Given the description of an element on the screen output the (x, y) to click on. 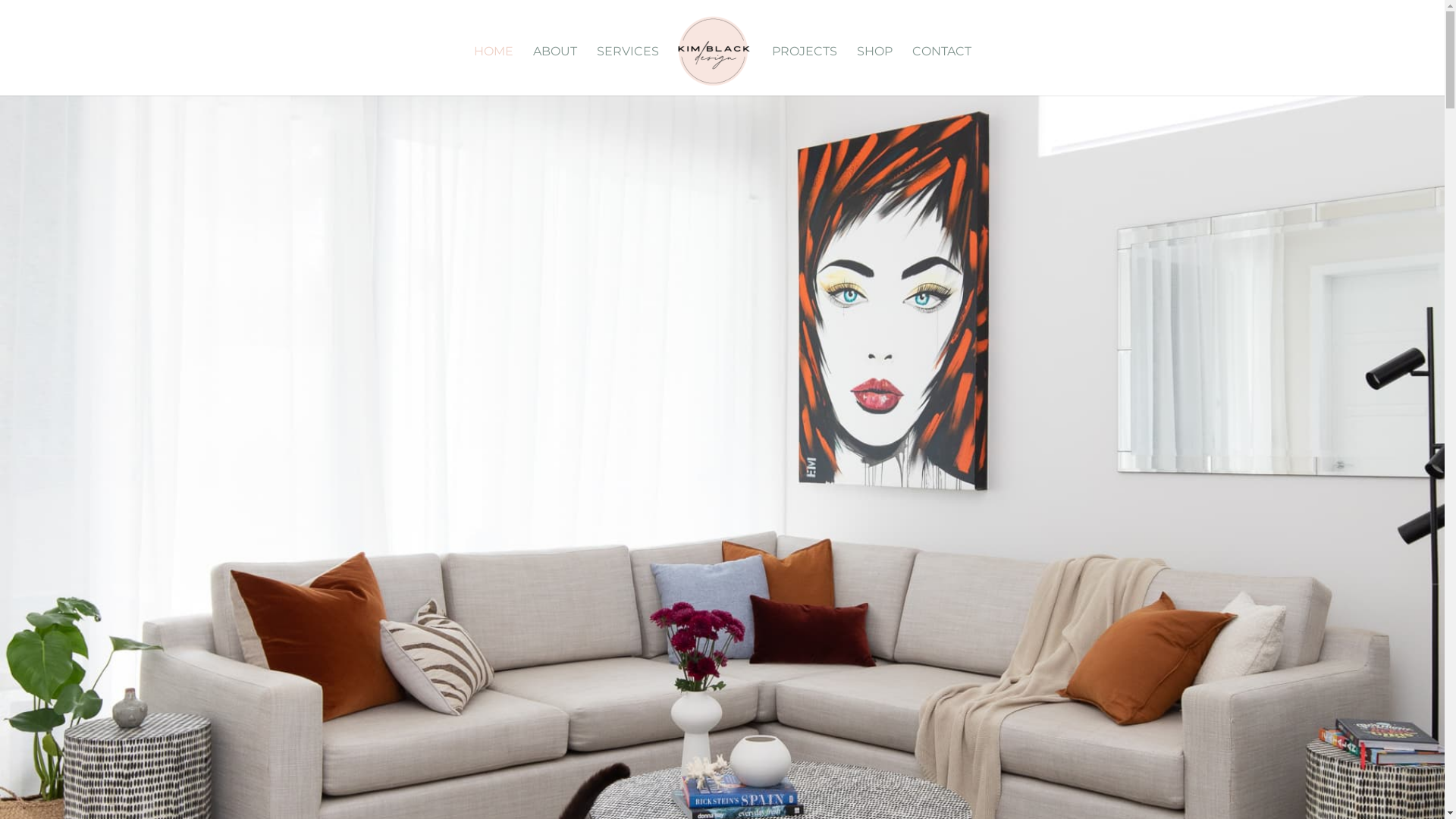
SHOP Element type: text (874, 70)
PROJECTS Element type: text (804, 70)
HOME Element type: text (492, 70)
ABOUT Element type: text (554, 70)
CONTACT Element type: text (940, 70)
SERVICES Element type: text (627, 70)
